Given the description of an element on the screen output the (x, y) to click on. 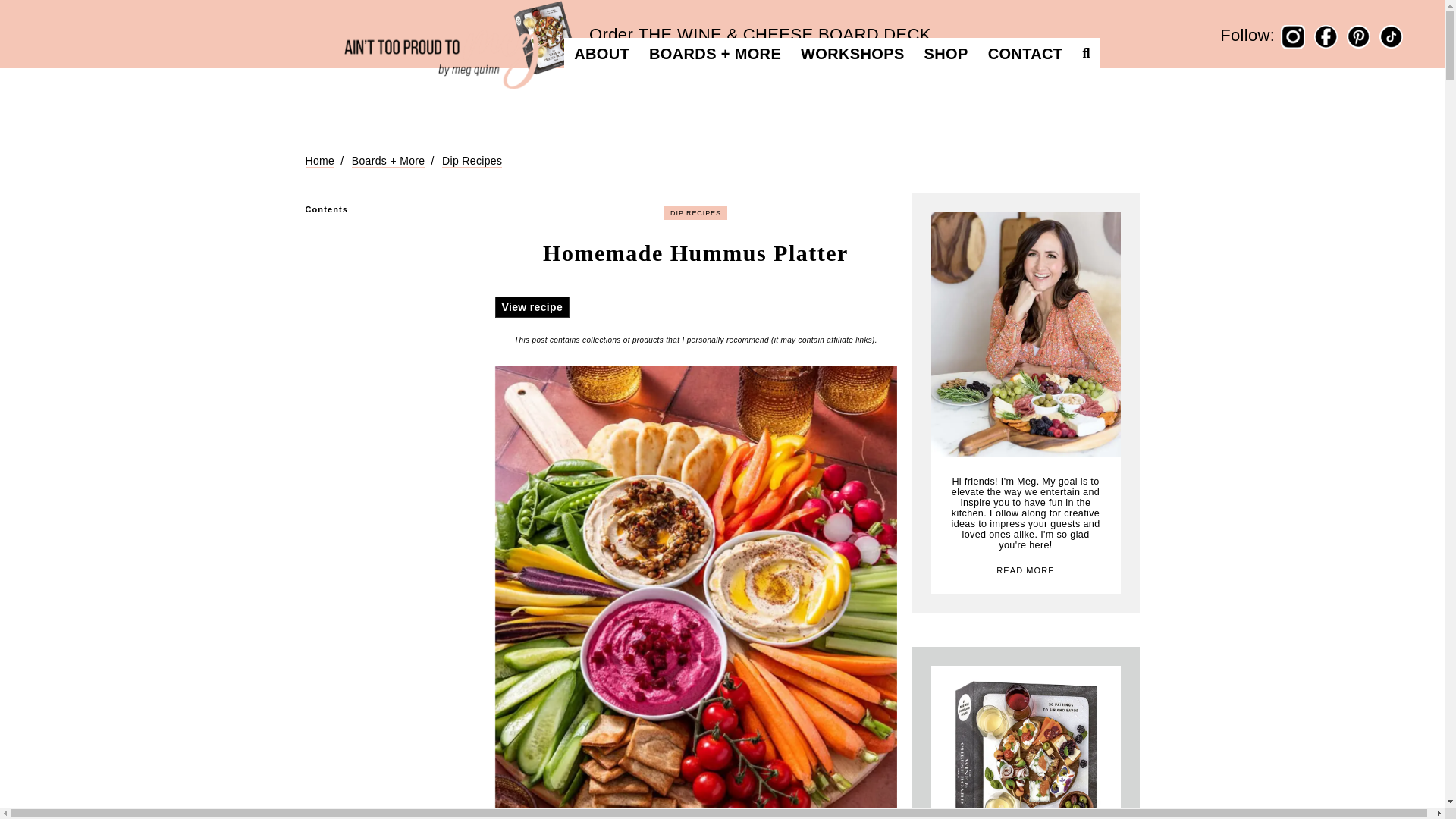
WORKSHOPS (852, 54)
ABOUT (600, 54)
View all posts in Dip Recipes (694, 213)
SHOP (946, 54)
